Given the description of an element on the screen output the (x, y) to click on. 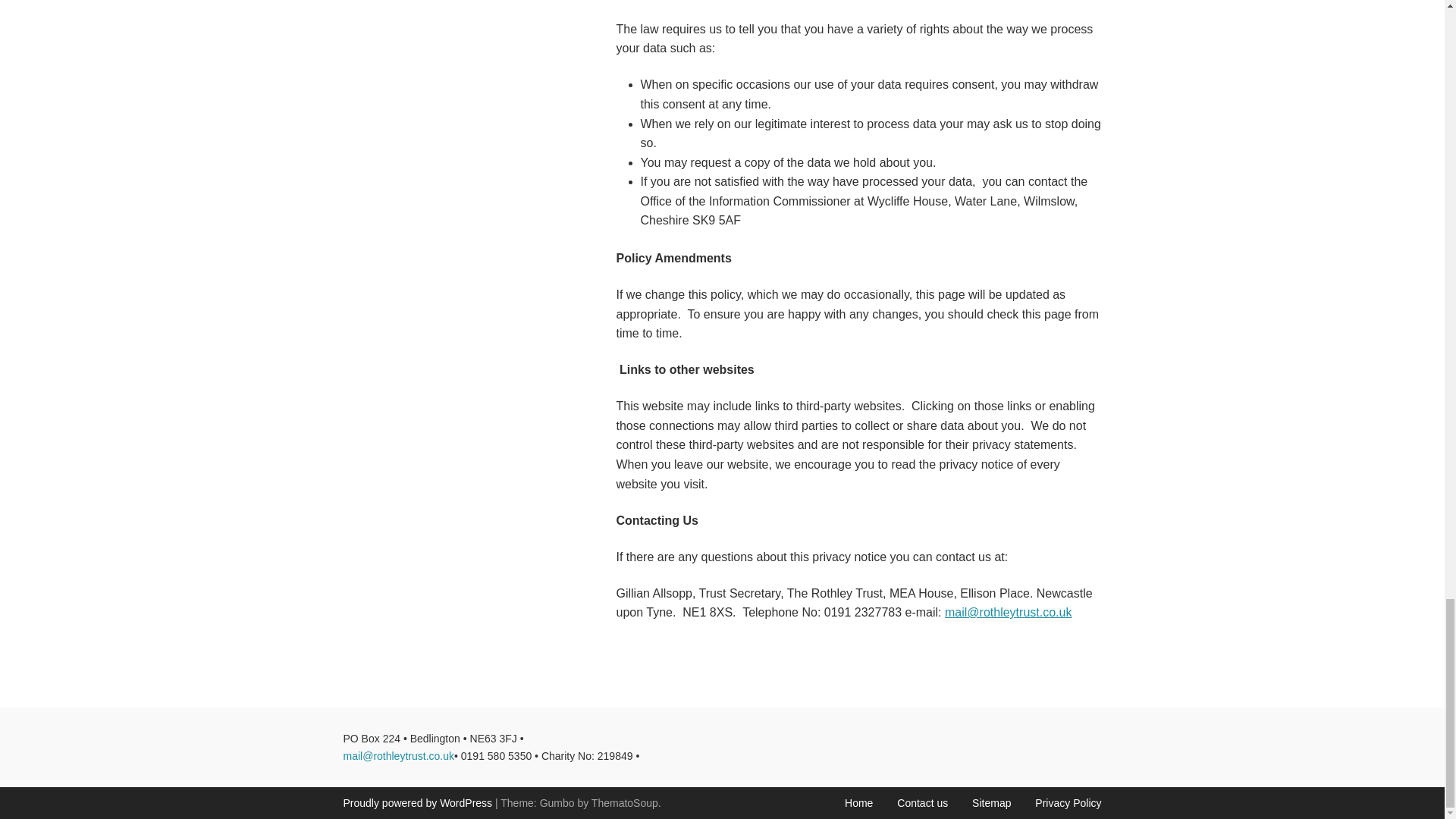
Privacy Policy (1067, 802)
Home (858, 802)
Sitemap (991, 802)
Contact us (921, 802)
Proudly powered by WordPress (417, 802)
A Semantic Personal Publishing Platform (417, 802)
